Given the description of an element on the screen output the (x, y) to click on. 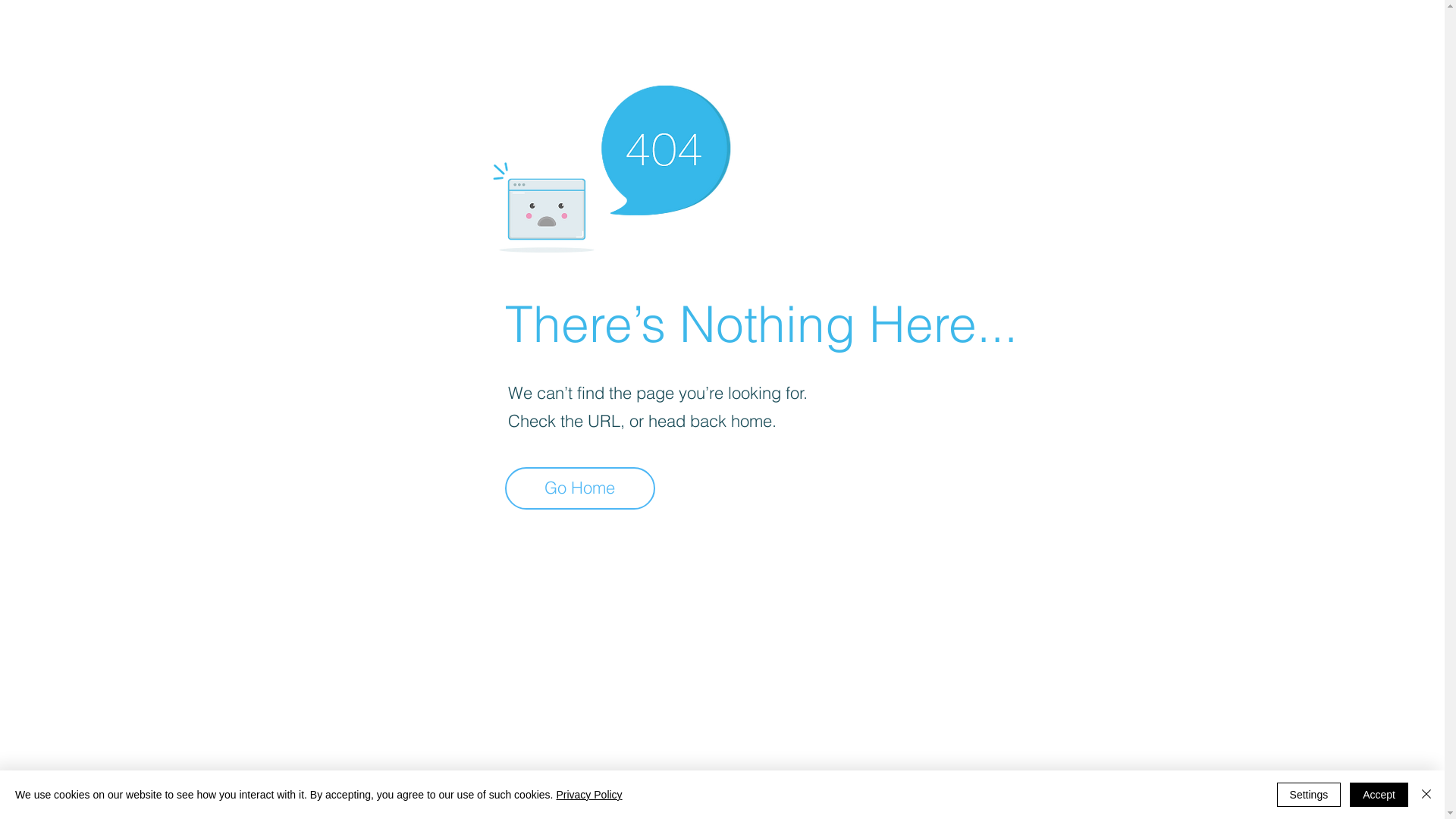
Go Home Element type: text (580, 488)
Accept Element type: text (1378, 794)
404-icon_2.png Element type: hover (610, 164)
Privacy Policy Element type: text (588, 794)
Settings Element type: text (1309, 794)
